Given the description of an element on the screen output the (x, y) to click on. 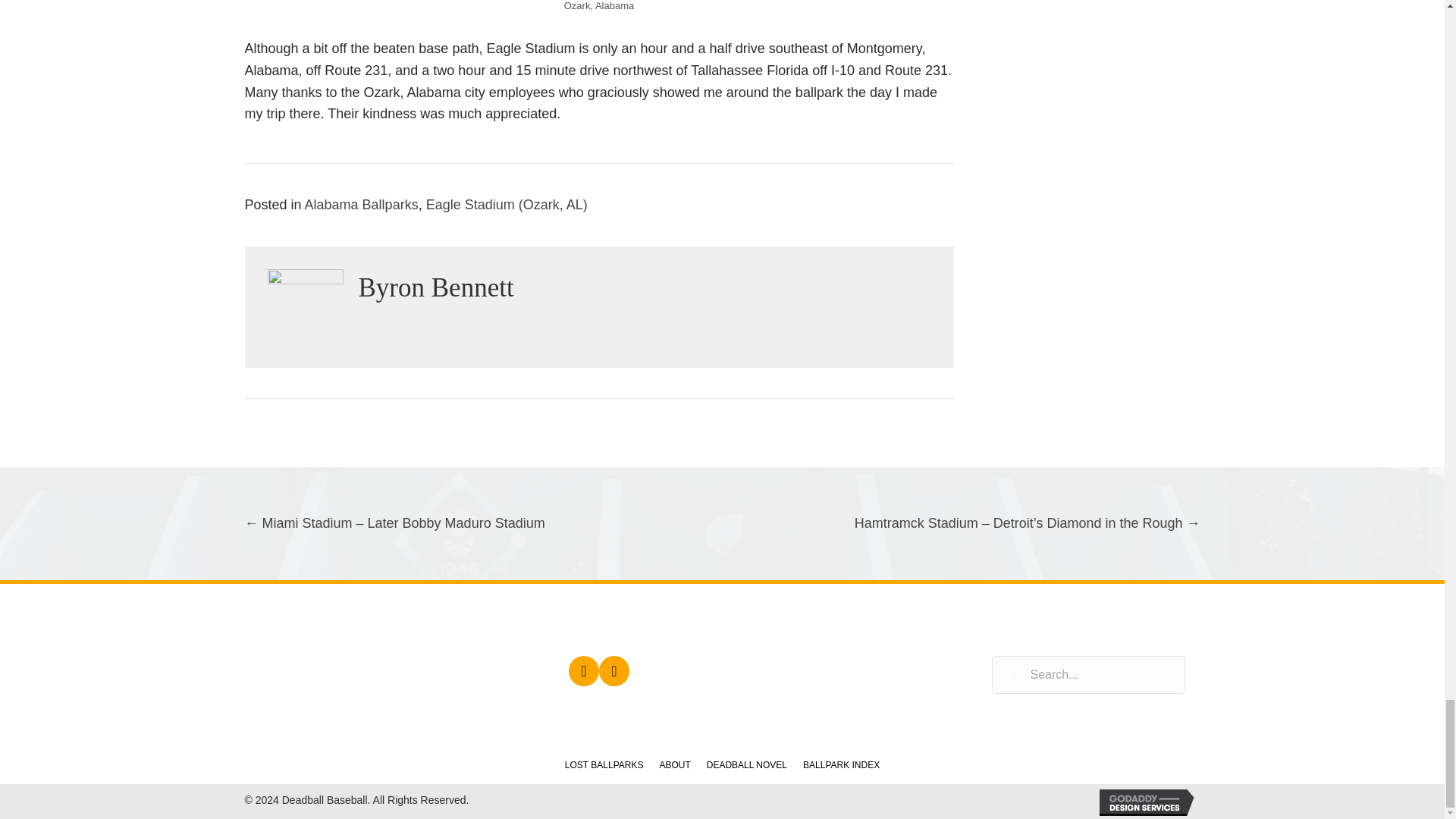
BALLPARK INDEX (840, 765)
Facebook (583, 671)
amazon logo (845, 666)
Alabama Ballparks (361, 204)
LOST BALLPARKS (603, 765)
Amazon (613, 671)
DEADBALL NOVEL (746, 765)
ABOUT (673, 765)
